Given the description of an element on the screen output the (x, y) to click on. 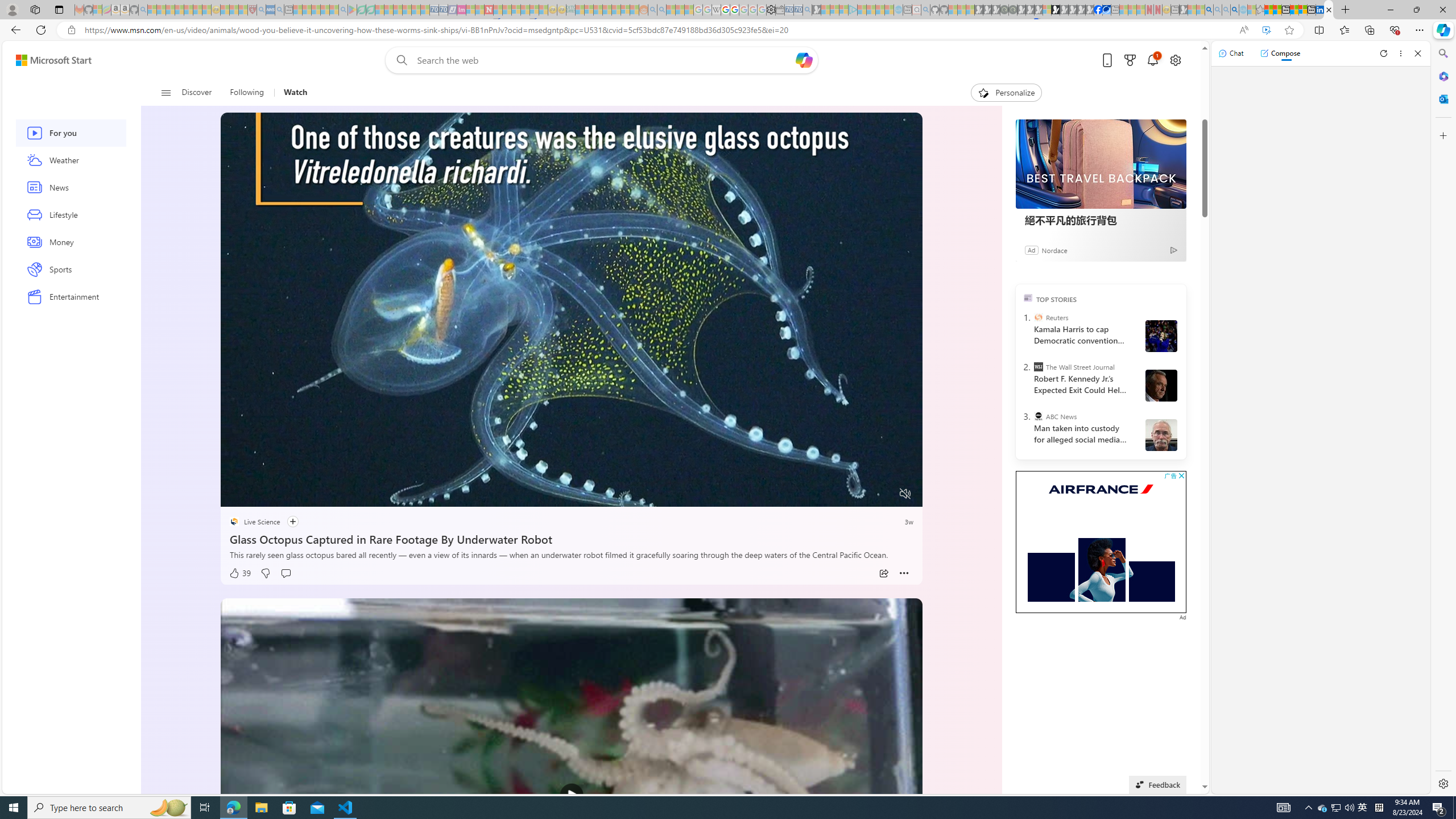
Privacy Help Center - Policies Help (725, 9)
AQI & Health | AirNow.gov (1106, 9)
Pets - MSN - Sleeping (324, 9)
Open settings (1175, 60)
Nordace | Facebook (1098, 9)
